Given the description of an element on the screen output the (x, y) to click on. 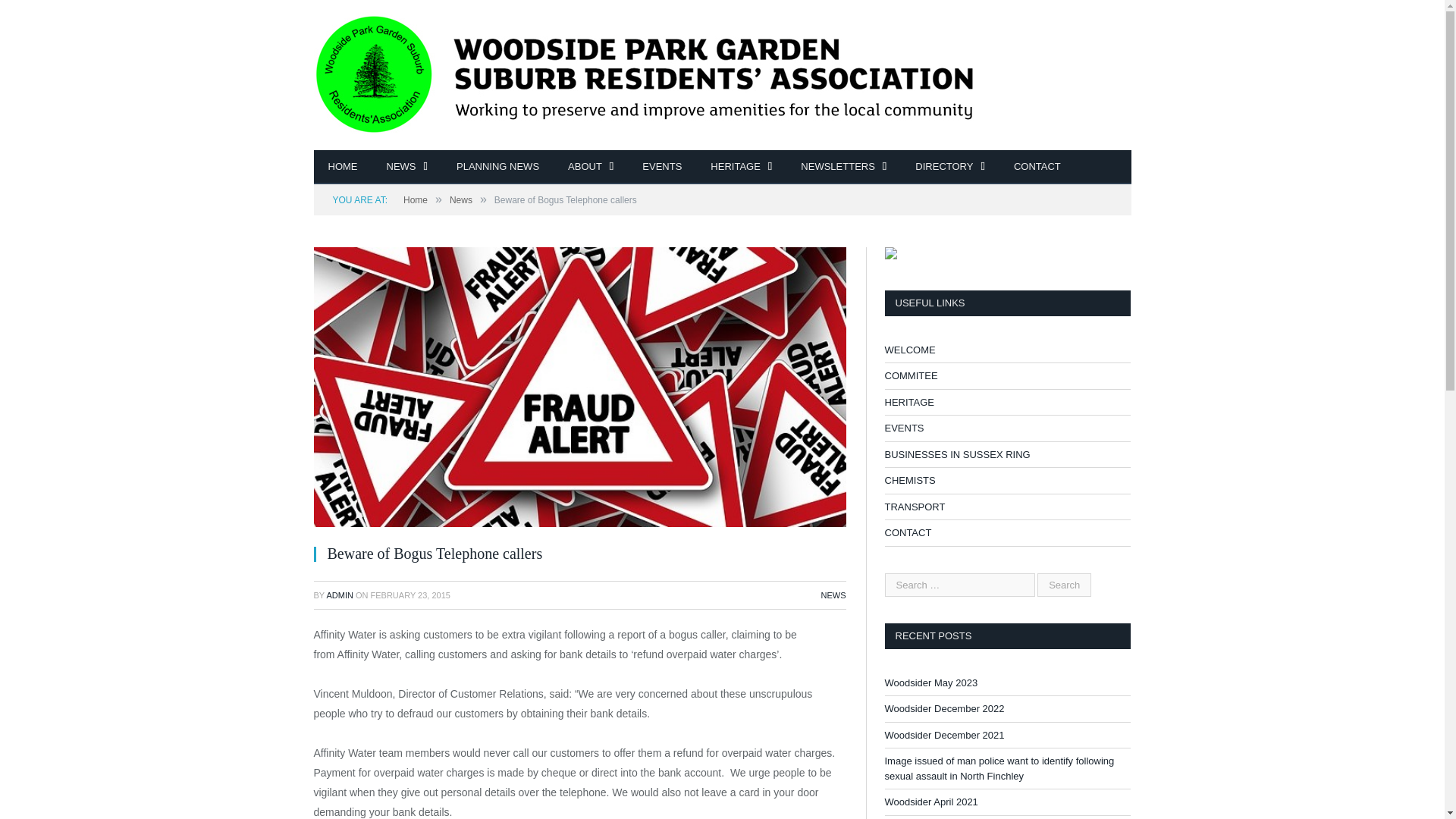
DIRECTORY (949, 166)
EVENTS (661, 166)
Posts by admin (339, 594)
HERITAGE (740, 166)
ABOUT (590, 166)
Woodside Park Garden Suburb Residents' Association (645, 72)
Search (1063, 585)
CONTACT (1036, 166)
PLANNING NEWS (497, 166)
